Given the description of an element on the screen output the (x, y) to click on. 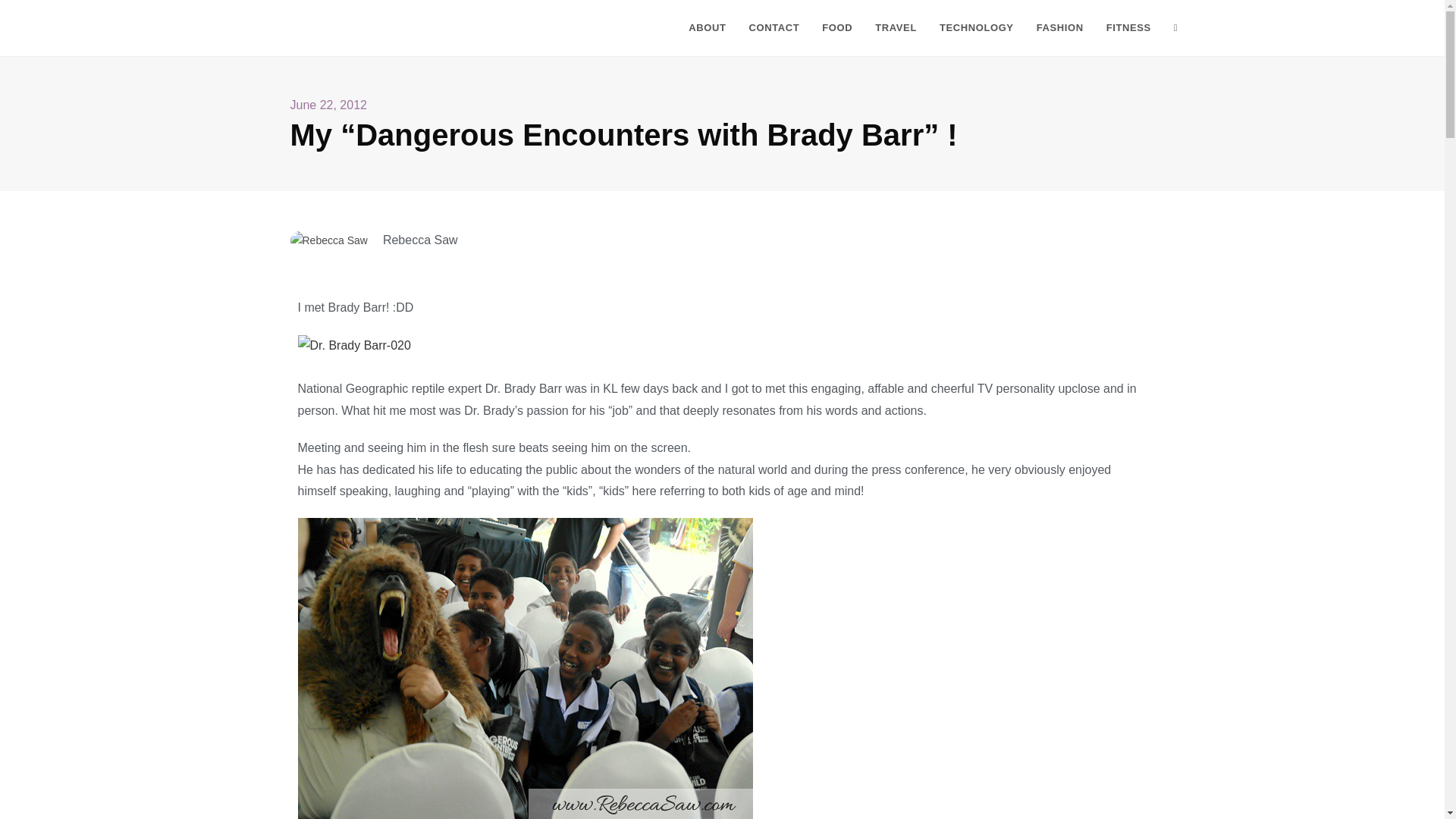
June 22, 2012 (327, 106)
TECHNOLOGY (976, 28)
Rebecca Saw (322, 27)
FOOD (836, 28)
Dr. Brady Barr-010 (524, 667)
CONTACT (774, 28)
FITNESS (1127, 28)
Dr. Brady Barr-020 (353, 344)
FASHION (1059, 28)
TRAVEL (895, 28)
